Given the description of an element on the screen output the (x, y) to click on. 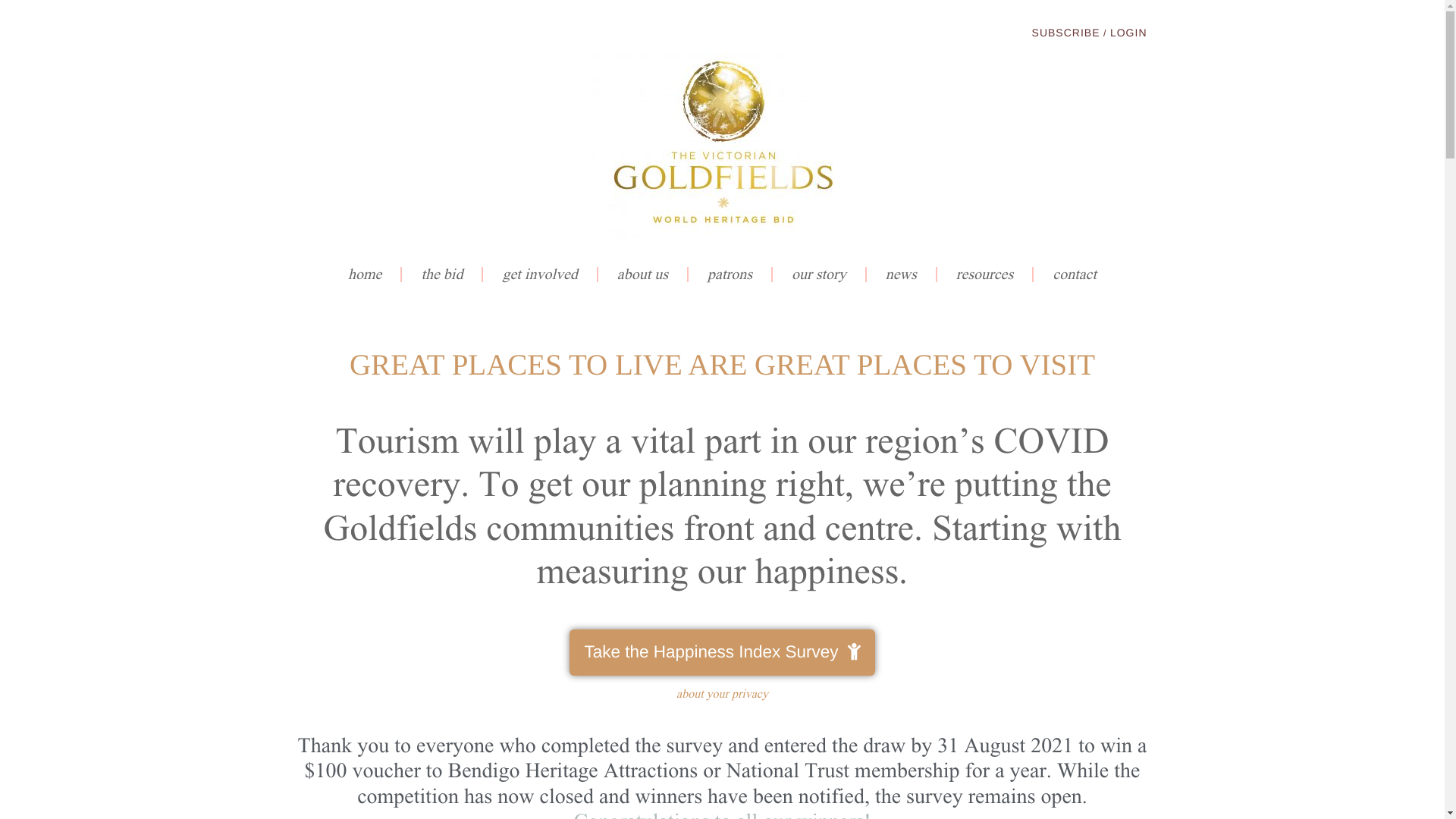
our story Element type: text (819, 274)
about your privacy Element type: text (722, 693)
SUBSCRIBE Element type: text (1066, 32)
Take the Happiness Index Survey Element type: text (721, 652)
home Element type: text (365, 274)
patrons Element type: text (730, 274)
get involved Element type: text (540, 274)
about us Element type: text (643, 274)
contact Element type: text (1074, 274)
the bid Element type: text (442, 274)
news Element type: text (901, 274)
LOGIN Element type: text (1128, 32)
resources Element type: text (985, 274)
